Given the description of an element on the screen output the (x, y) to click on. 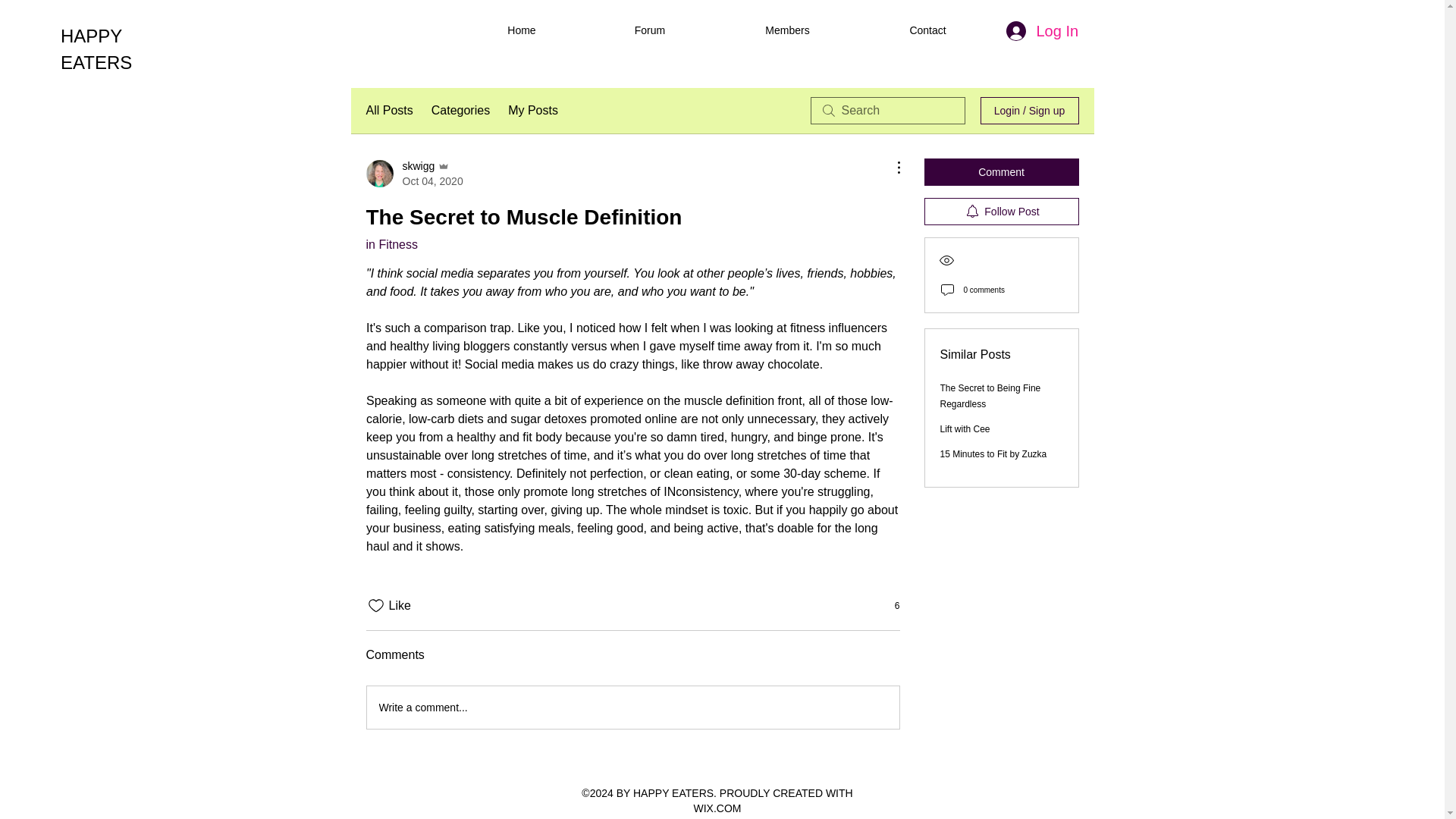
Lift with Cee (965, 429)
Write a comment... (632, 707)
The Secret to Being Fine Regardless (990, 396)
15 Minutes to Fit by Zuzka (993, 453)
Follow Post (1000, 211)
Categories (459, 110)
in Fitness (390, 244)
Members (787, 30)
My Posts (532, 110)
HAPPY EATERS (96, 48)
